Given the description of an element on the screen output the (x, y) to click on. 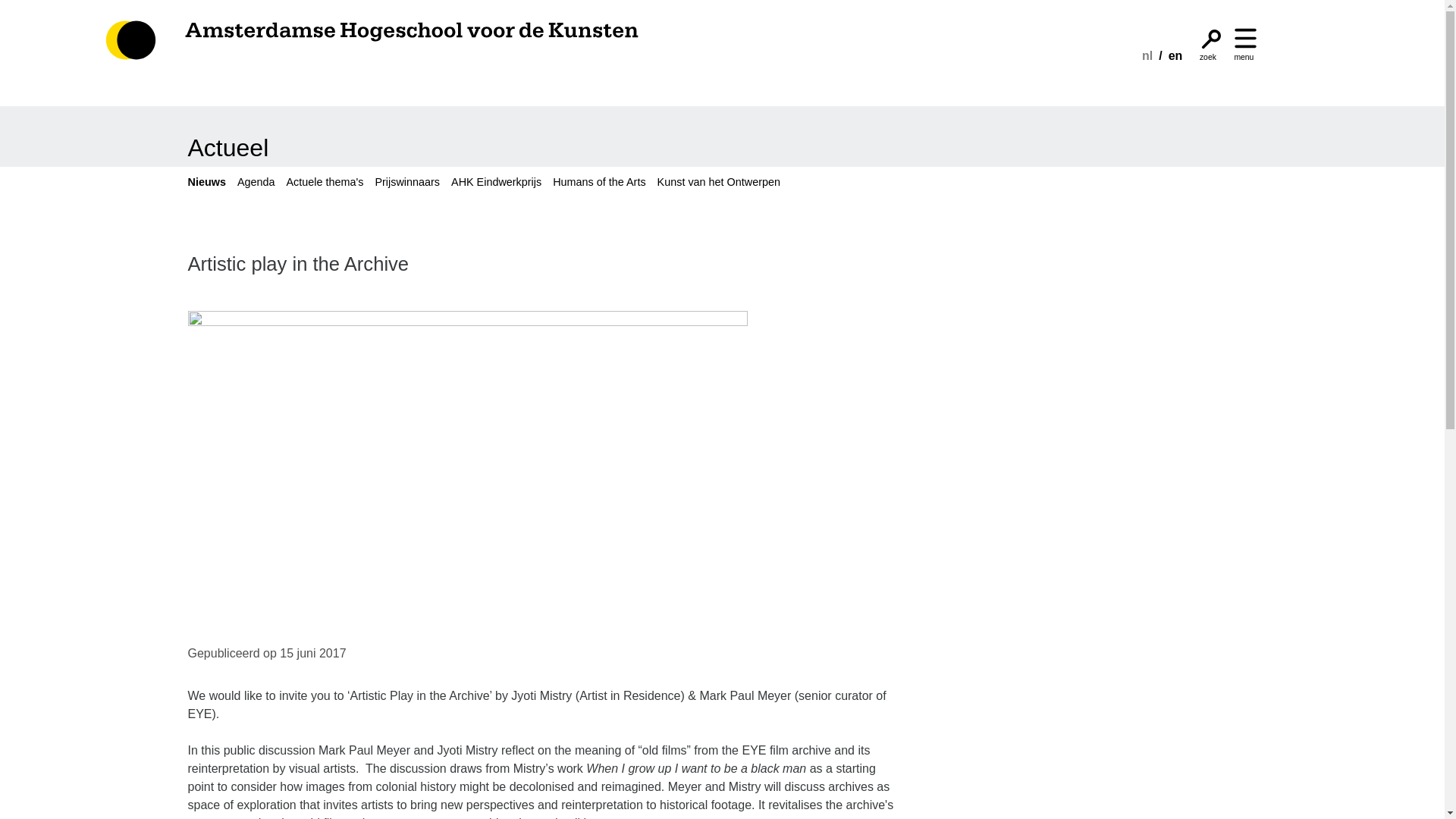
Menu (1245, 37)
Actueel (228, 147)
Zoek (1211, 37)
